Given the description of an element on the screen output the (x, y) to click on. 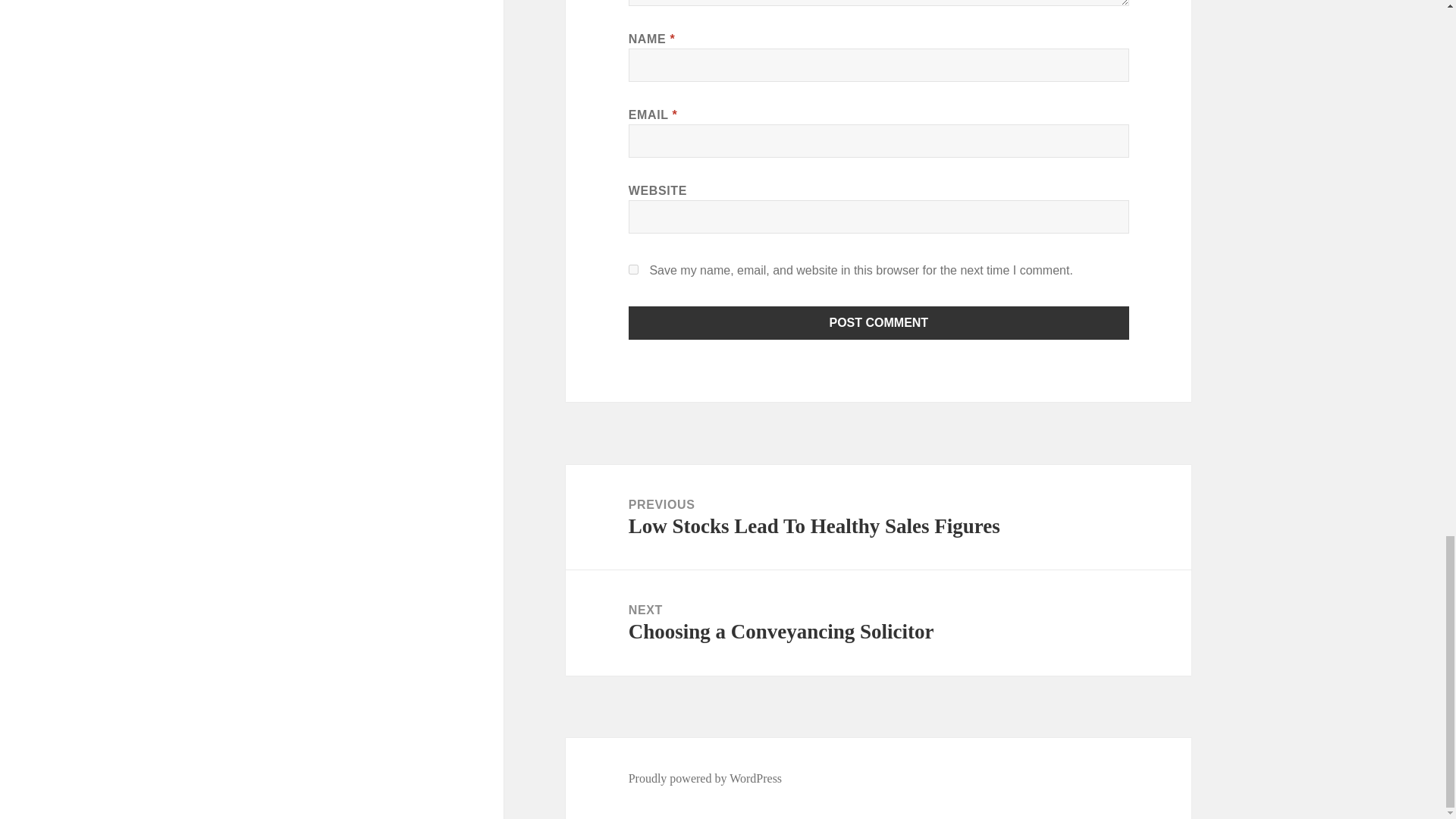
yes (633, 269)
Proudly powered by WordPress (878, 622)
Post Comment (704, 777)
Post Comment (878, 322)
